Given the description of an element on the screen output the (x, y) to click on. 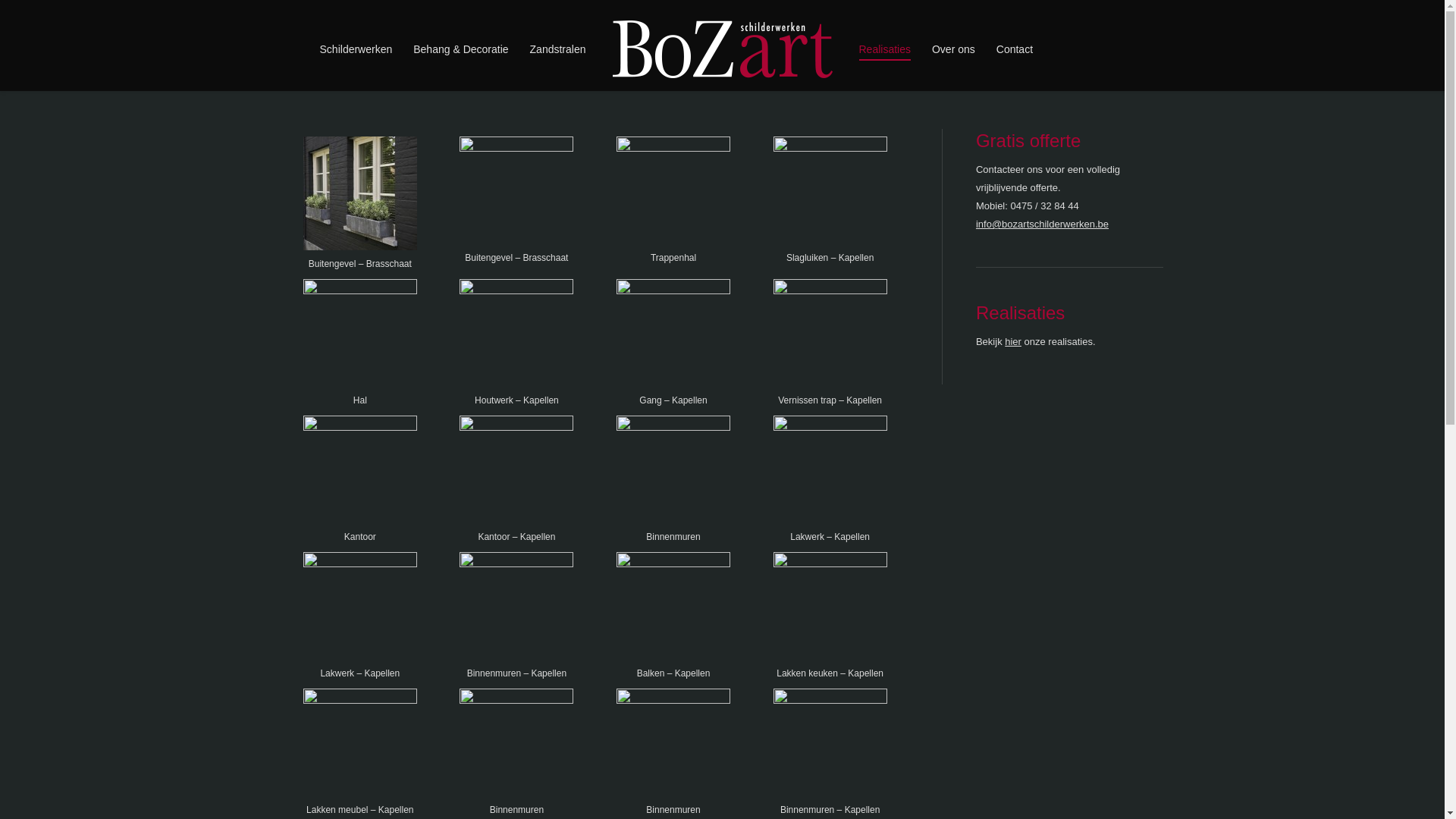
info@bozartschilderwerken.be Element type: text (1041, 223)
Schilderen van binnenmuren in Kapellen. Element type: hover (830, 745)
Realisatie Kapellen-Binnenmuren en stalen balken. Element type: hover (516, 608)
Schilderen van plafond en wanden. Element type: hover (360, 335)
hier Element type: text (1012, 341)
Schilderen van binnenmuren in Kapellen. Element type: hover (516, 472)
Lakken van houten luifels in kapellen. Element type: hover (516, 335)
Schilderen van binnenmuren. Element type: hover (673, 193)
Schilderen van binnenmuren. Element type: hover (516, 745)
Realisatie Kapellen-Lakken van keuken. Element type: hover (830, 608)
Realisatie Kapellen-Lakwerk badkamermeubel. Element type: hover (360, 745)
Realisaties Element type: text (884, 48)
Schilderen van wanden in kapellen. Element type: hover (673, 335)
Zandstralen Element type: text (558, 48)
Behang & Decoratie Element type: text (460, 48)
Lakken van slagluiken in kapellen. Element type: hover (830, 193)
Realisatie kapellen-Lakwerk houten luifels. Element type: hover (830, 472)
Schilderen van wand. Element type: hover (360, 472)
Over ons Element type: text (953, 48)
Realisatie kapellen-Lakwerk houten luifels. Element type: hover (360, 608)
Vernissen van houten trap in kapellen. Element type: hover (830, 335)
Realisatie Kapellen-Binnenmuren en stalen balken. Element type: hover (673, 608)
Schilderen van buitenmuren in Brasschaat. Element type: hover (360, 193)
Schilderen van buitenmuren in Brasschaat. Element type: hover (516, 193)
Binnenschilderwerken Element type: hover (673, 472)
Contact Element type: text (1014, 48)
Schilderwerken Element type: text (356, 48)
Schilderen van binnenmuren. Element type: hover (673, 745)
